Given the description of an element on the screen output the (x, y) to click on. 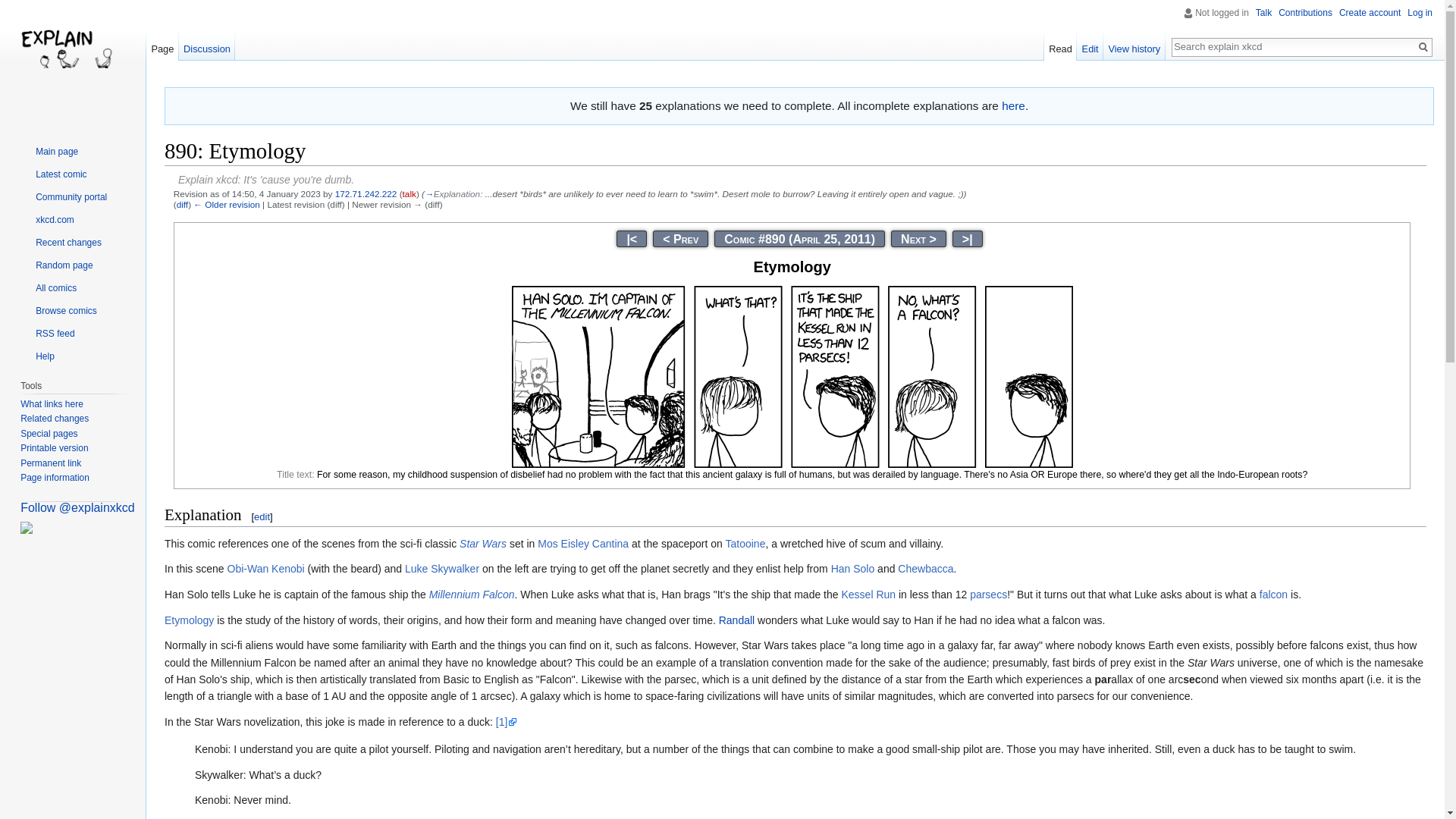
diff (181, 204)
2962 (967, 238)
Star Wars (483, 543)
talk (409, 194)
Millennium Falcon (472, 594)
890: Etymology (226, 204)
Search (1423, 46)
172.71.242.222 (365, 194)
Luke Skywalker (441, 568)
Mos Eisley Cantina (582, 543)
Han Solo (853, 568)
falcon (1273, 594)
wikipedia:Obi-Wan Kenobi (265, 568)
wikipedia:Star Wars (483, 543)
1 (631, 238)
